Given the description of an element on the screen output the (x, y) to click on. 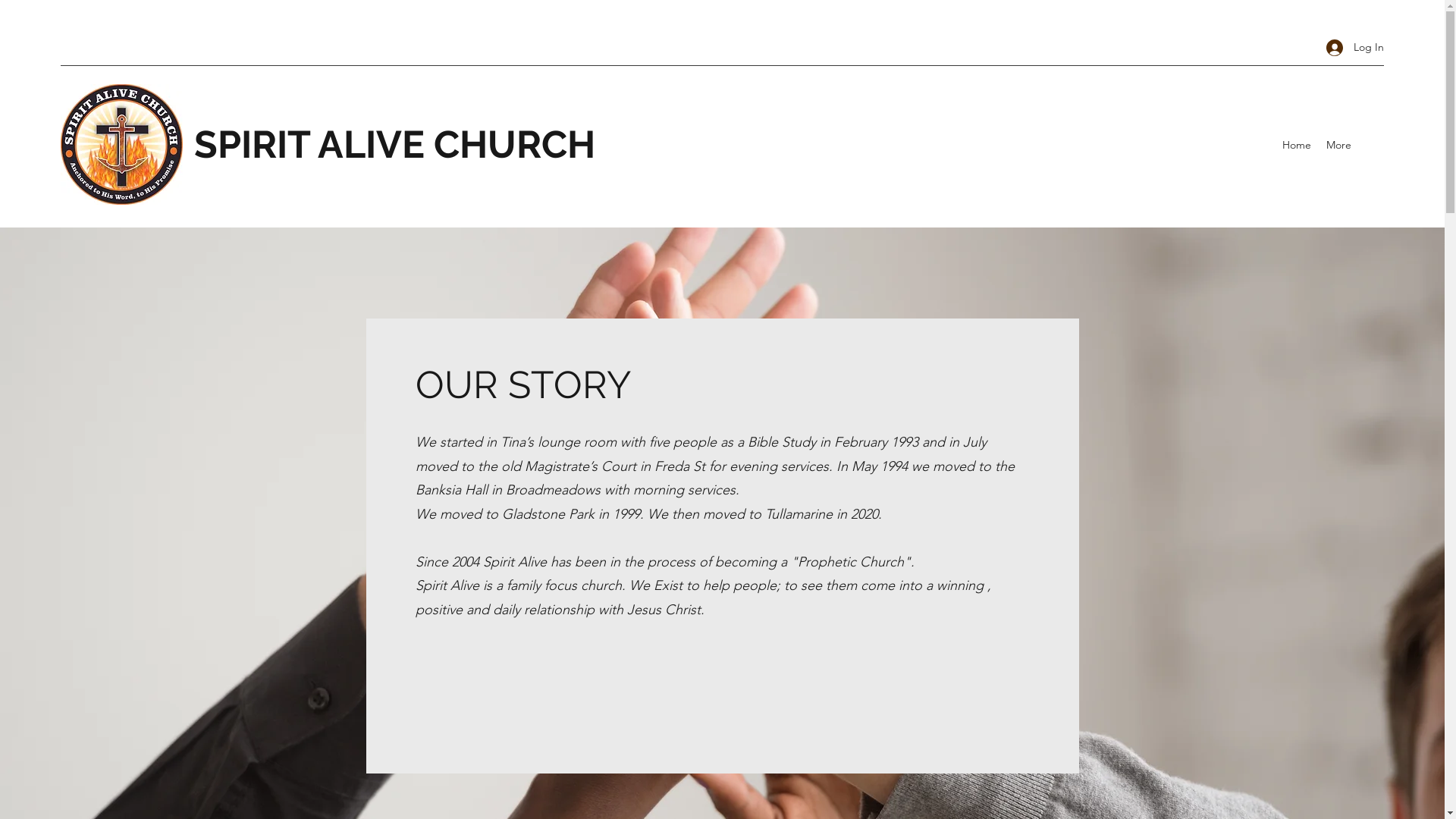
Home Element type: text (1296, 144)
Log In Element type: text (1349, 47)
